Given the description of an element on the screen output the (x, y) to click on. 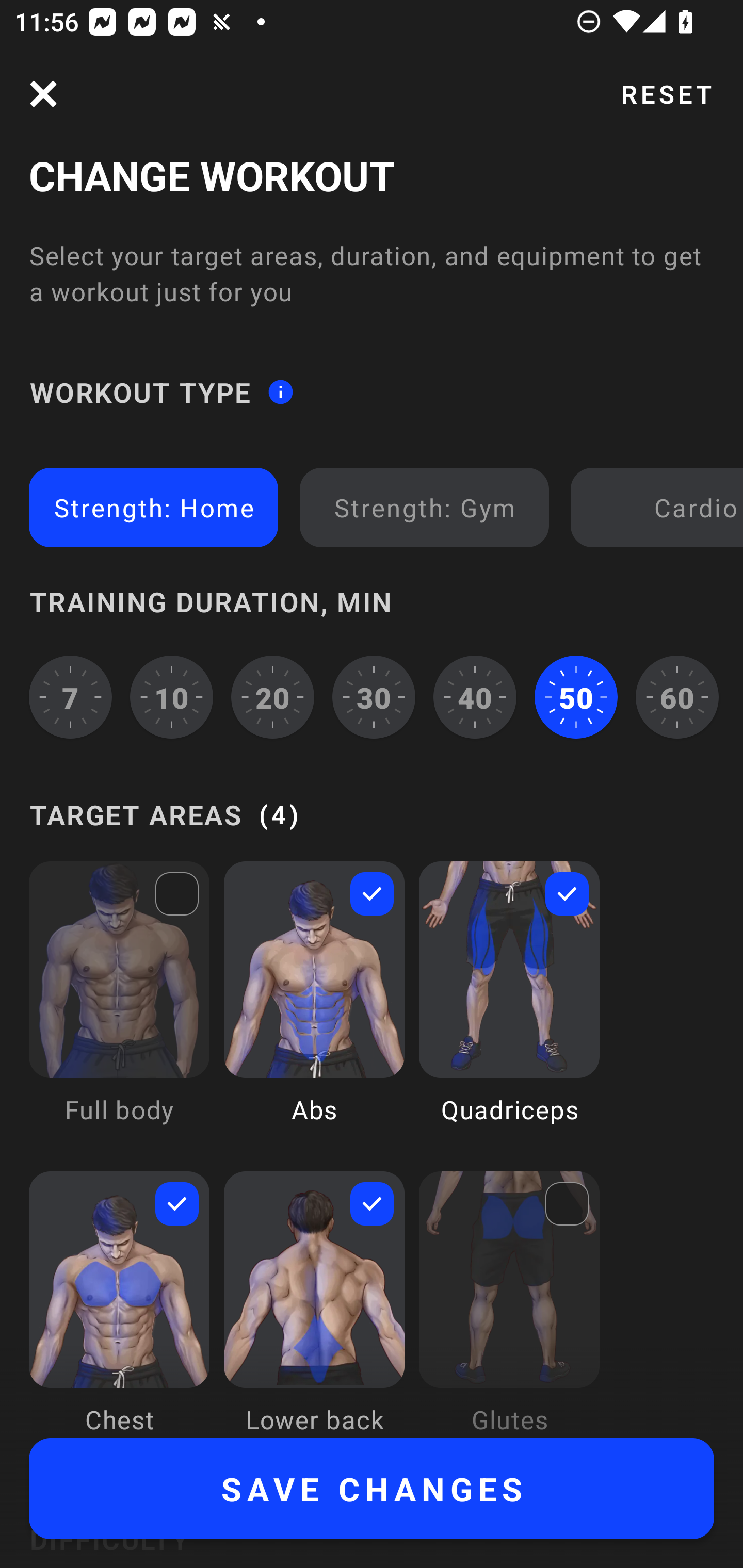
Navigation icon (43, 93)
RESET (666, 93)
Workout type information button (280, 391)
Strength: Gym (423, 507)
Cardio (660, 507)
7 (70, 696)
10 (171, 696)
20 (272, 696)
30 (373, 696)
40 (474, 696)
50 (575, 696)
60 (676, 696)
Full body (118, 1007)
Glutes (509, 1304)
SAVE CHANGES (371, 1488)
